Given the description of an element on the screen output the (x, y) to click on. 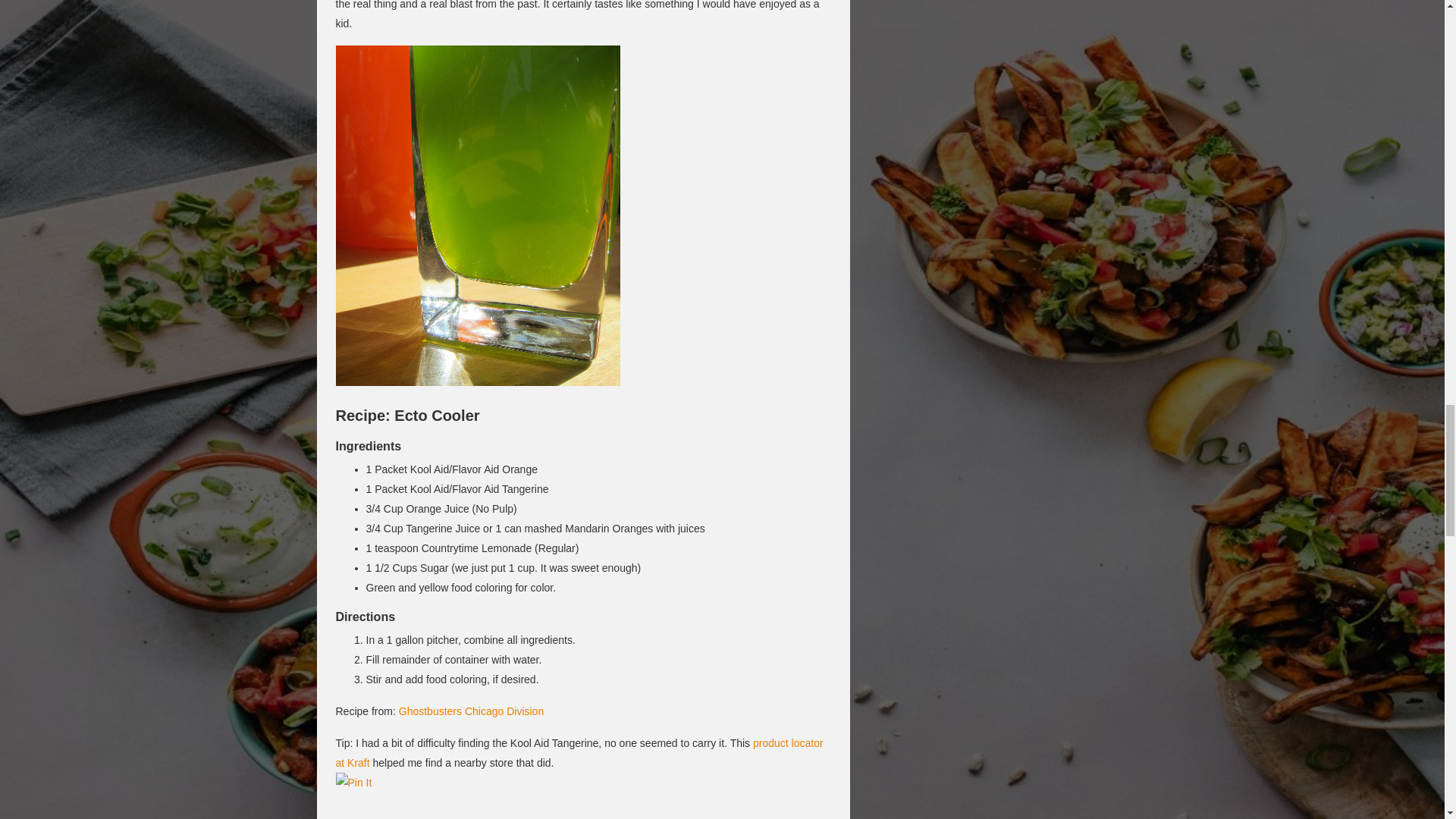
Pin It (352, 782)
product locator at Kraft (578, 753)
Ghostbusters Chicago Division (470, 711)
